Given the description of an element on the screen output the (x, y) to click on. 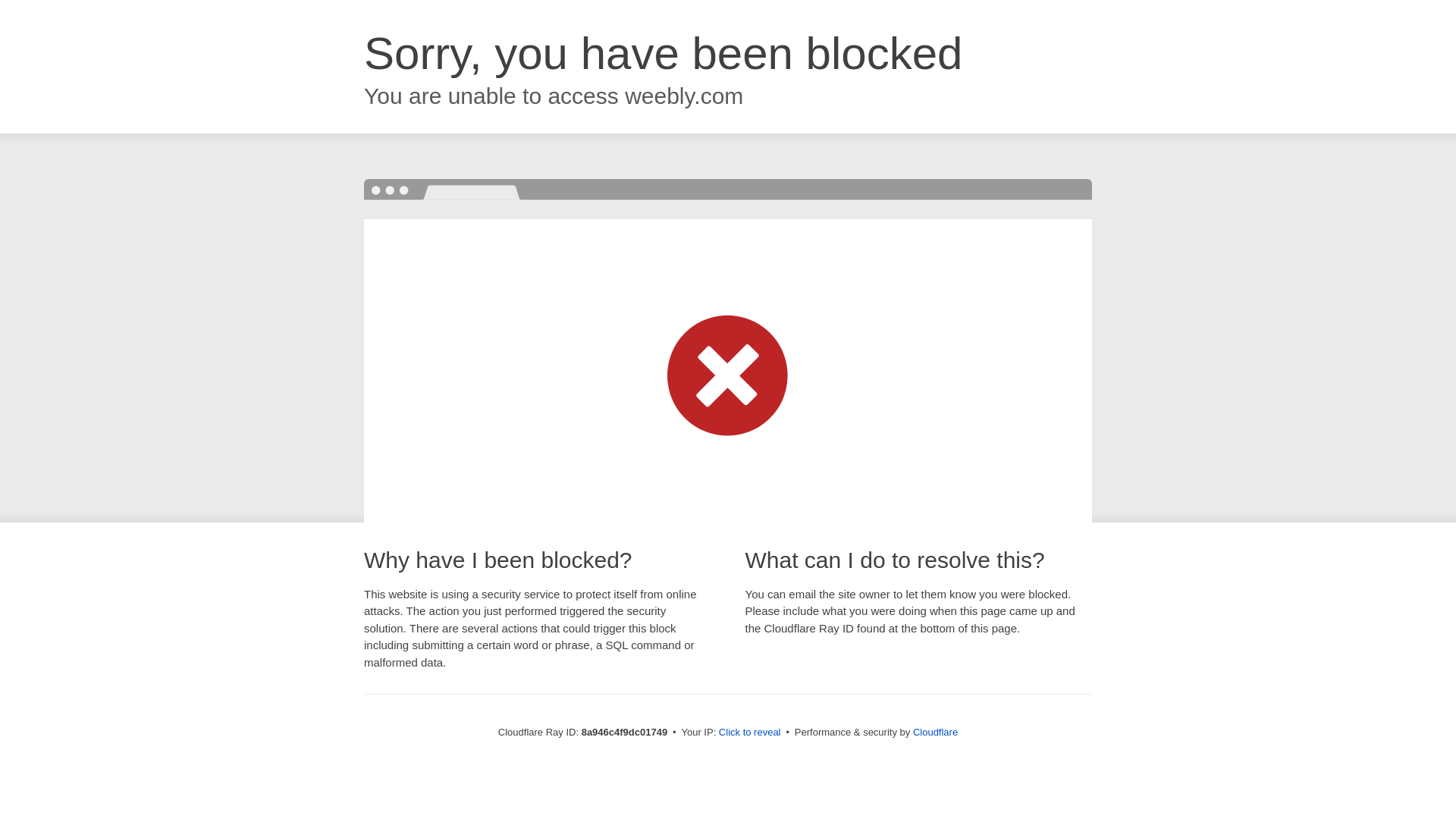
Cloudflare (935, 731)
Click to reveal (749, 732)
